Given the description of an element on the screen output the (x, y) to click on. 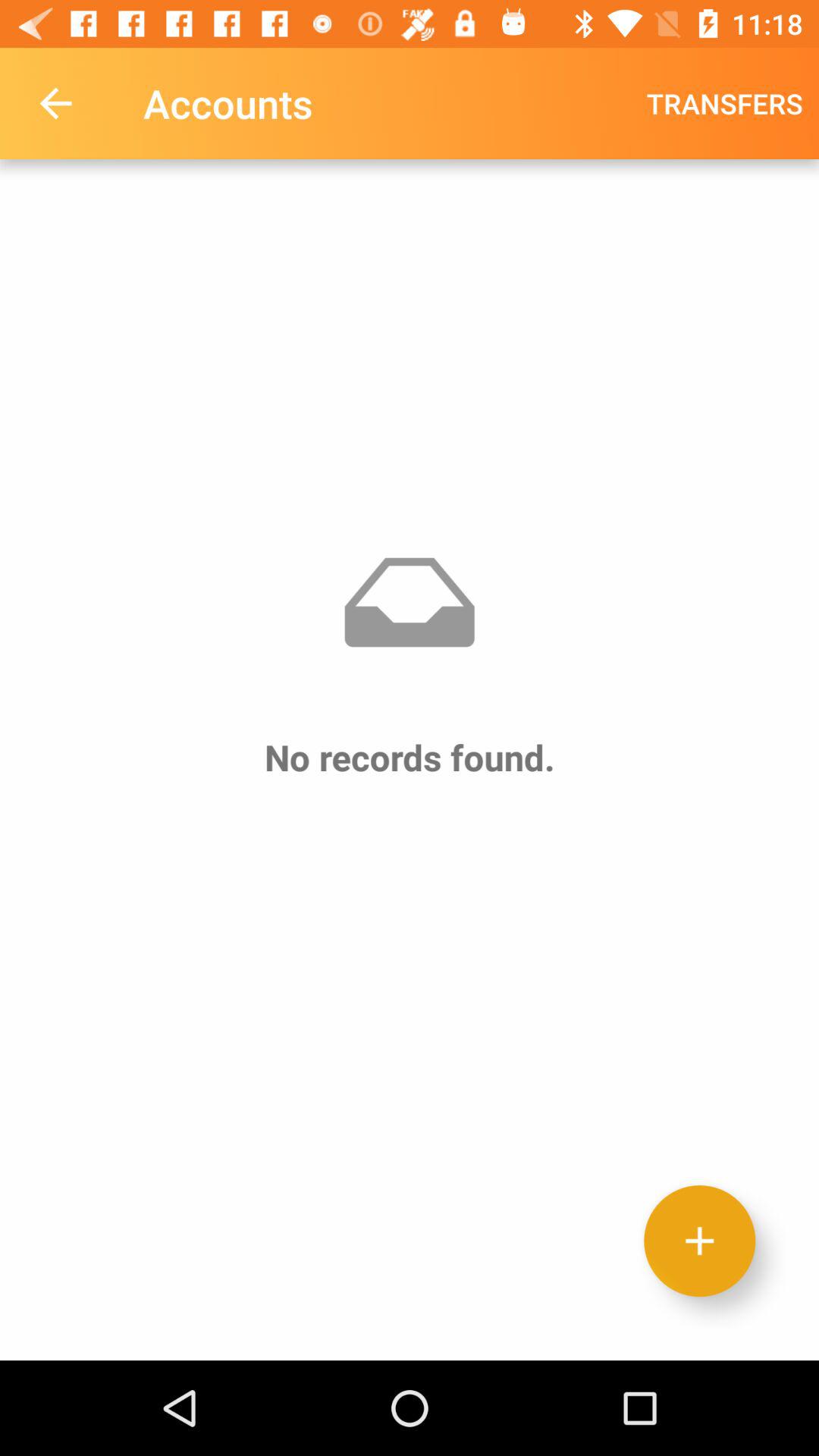
press transfers (724, 103)
